Given the description of an element on the screen output the (x, y) to click on. 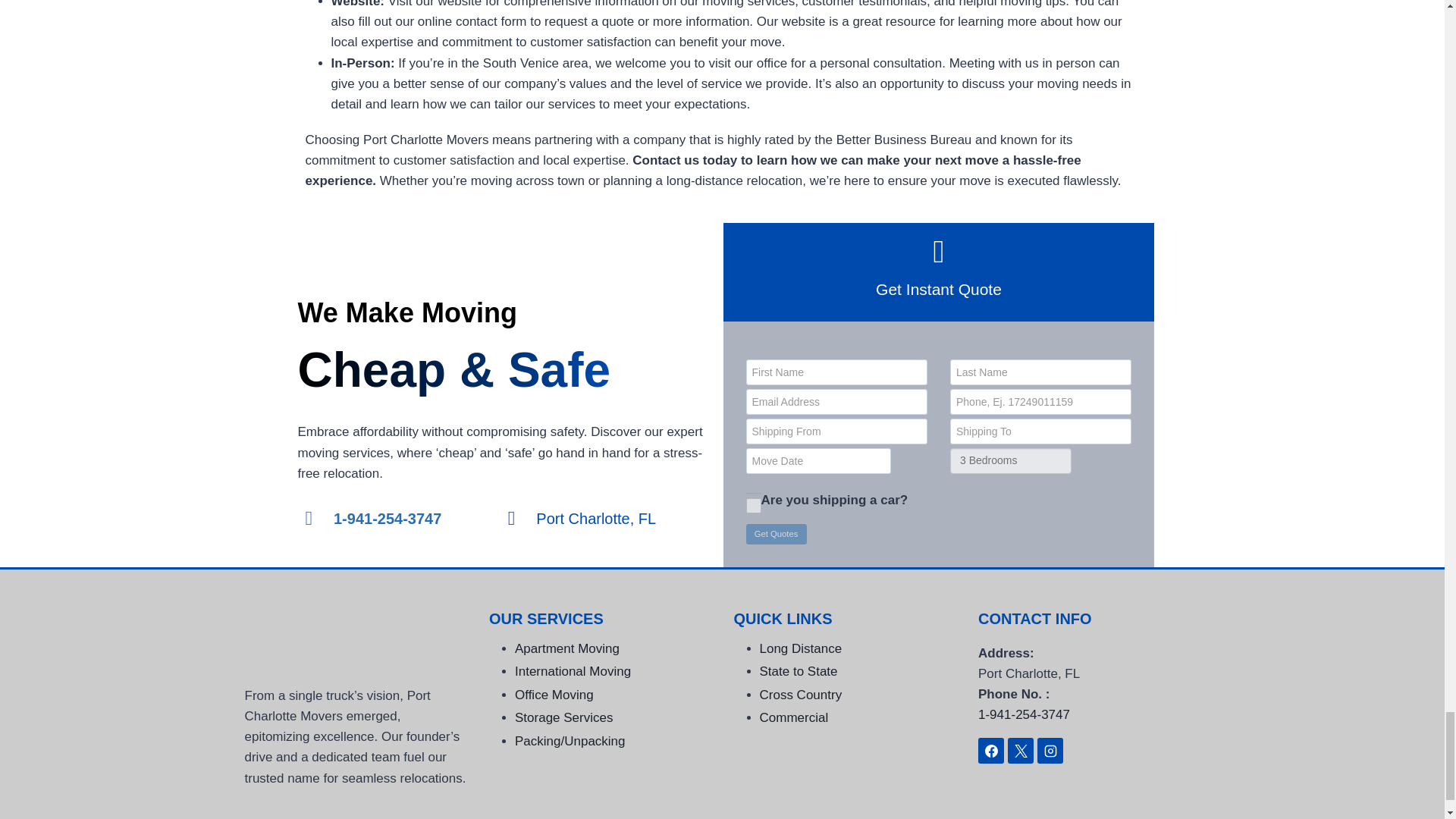
Get Quotes (775, 534)
Apartment Moving (567, 648)
International Moving (572, 671)
Get Quotes (775, 534)
1-941-254-3747 (372, 518)
